Given the description of an element on the screen output the (x, y) to click on. 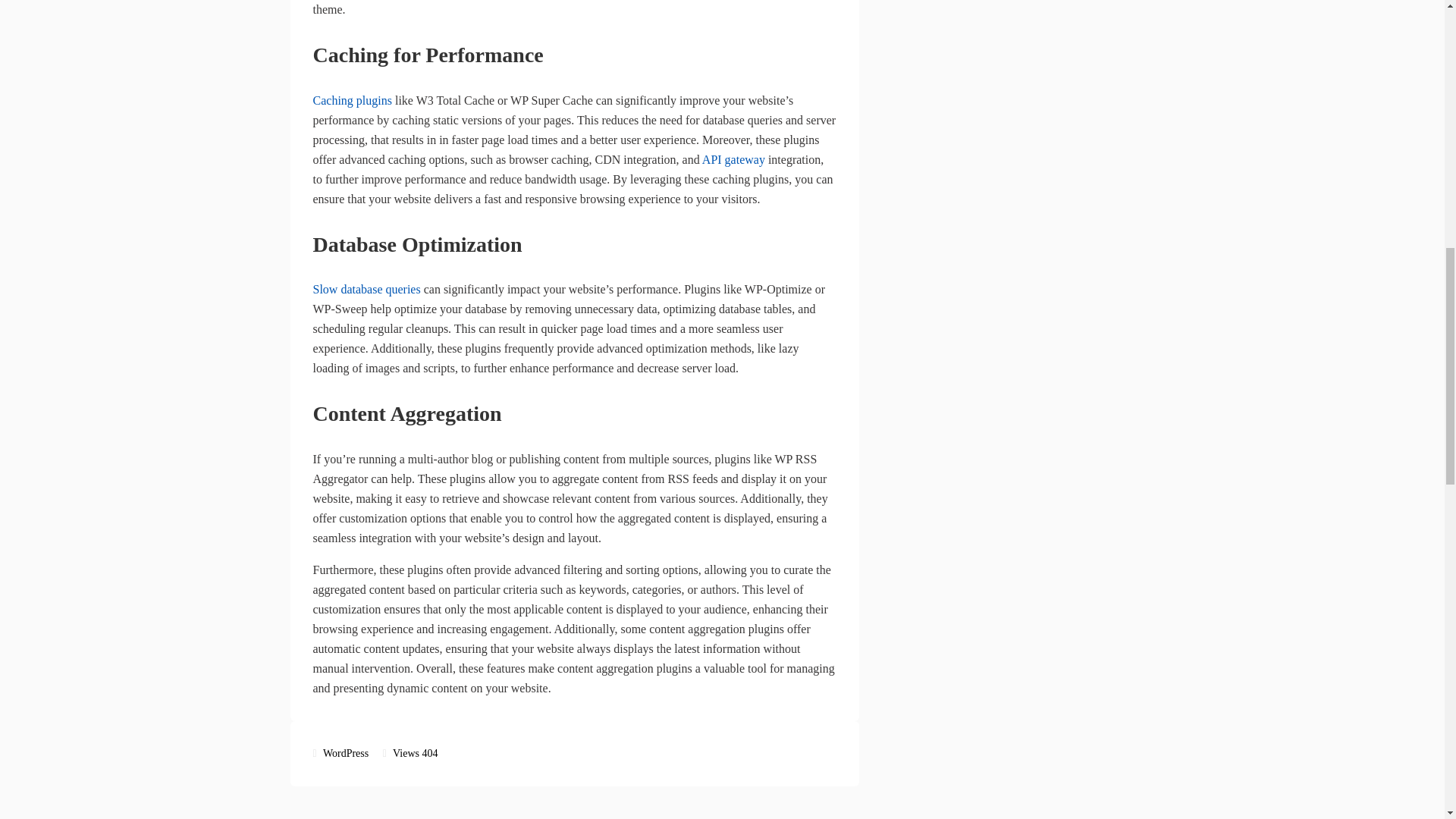
WordPress (345, 753)
Caching plugins (352, 100)
Slow database queries (366, 288)
API gateway (733, 159)
